Given the description of an element on the screen output the (x, y) to click on. 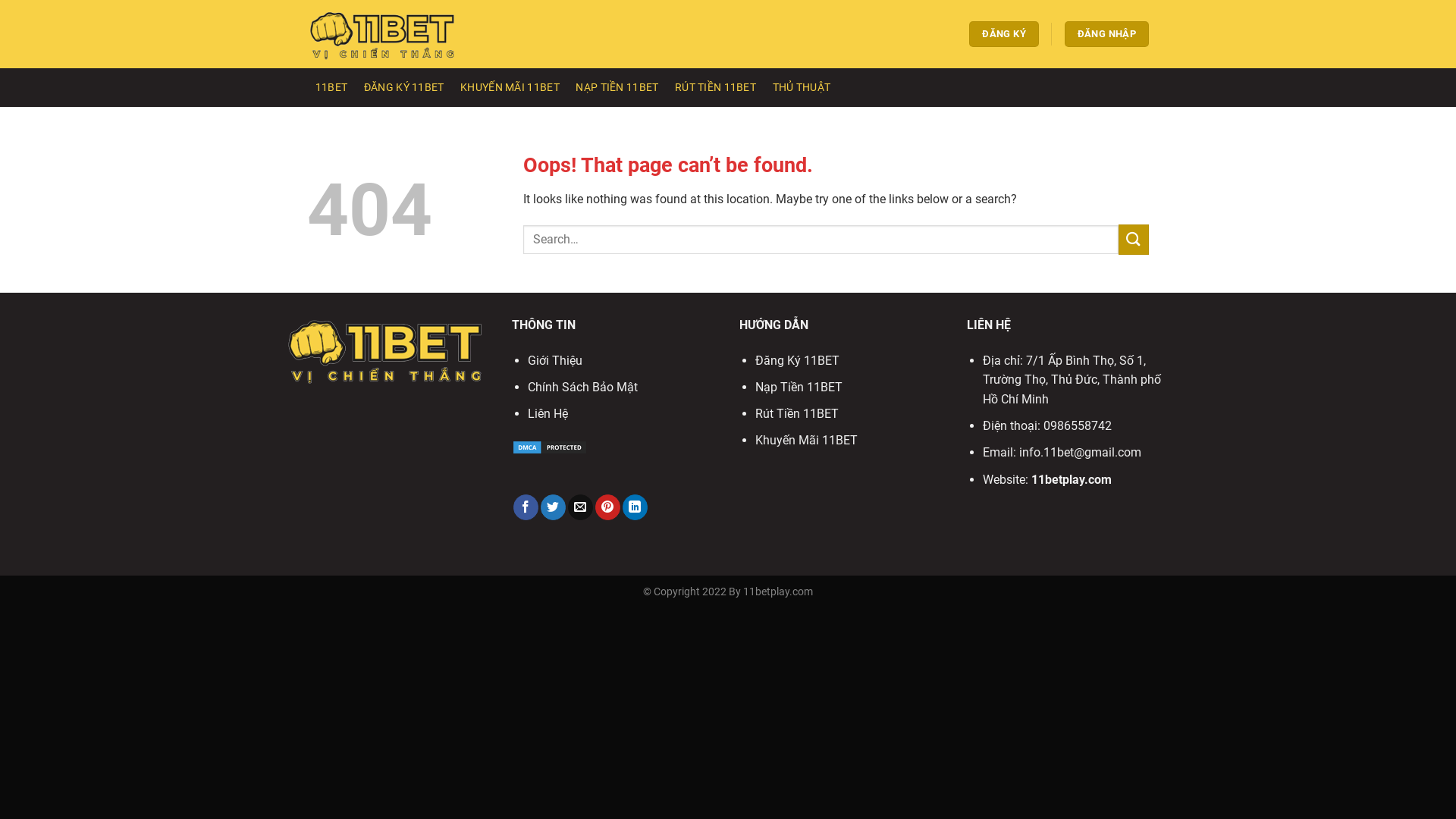
11BET Element type: text (331, 87)
11BET PLAY Element type: hover (382, 33)
11betplay.com Element type: text (1071, 479)
Share on LinkedIn Element type: hover (634, 507)
Pin on Pinterest Element type: hover (607, 507)
Email to a Friend Element type: hover (580, 507)
Share on Facebook Element type: hover (525, 507)
Share on Twitter Element type: hover (552, 507)
